Given the description of an element on the screen output the (x, y) to click on. 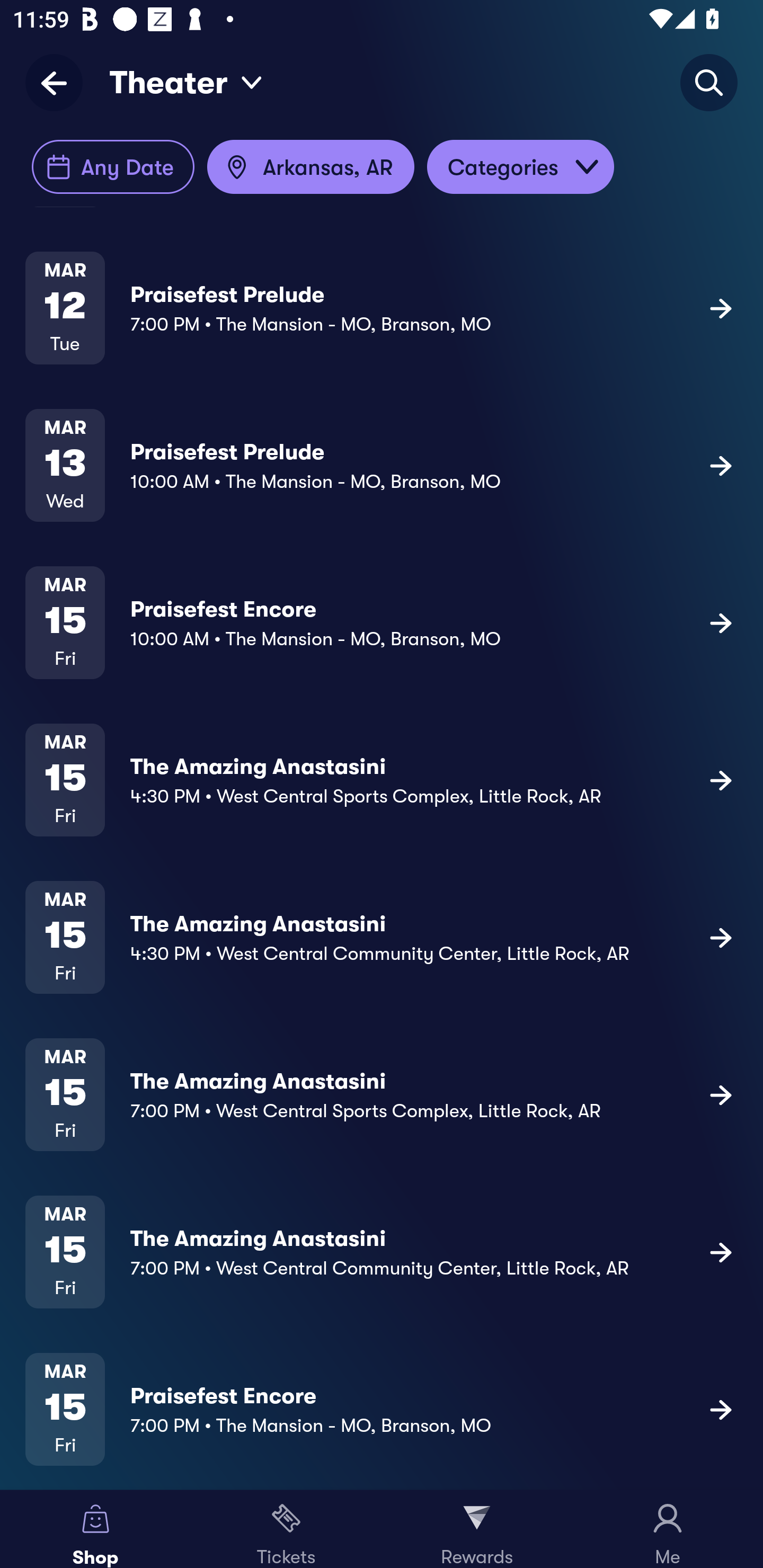
Back (60, 82)
Theater (185, 82)
Any Date (113, 166)
Arkansas, AR (310, 166)
Categories (520, 166)
Open (586, 166)
Shop (95, 1529)
Tickets (285, 1529)
Rewards (476, 1529)
Me (667, 1529)
